Given the description of an element on the screen output the (x, y) to click on. 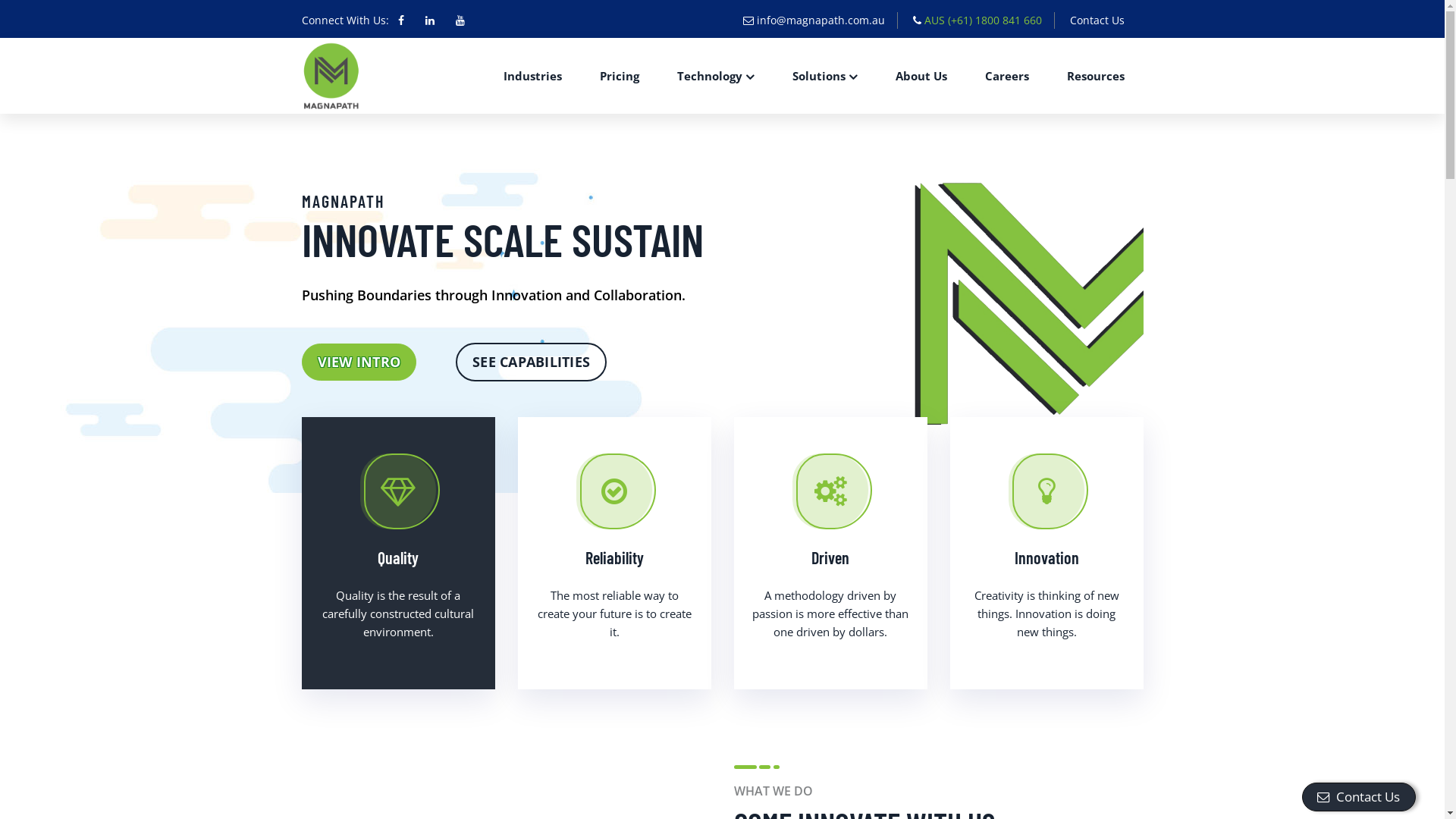
info@magnapath.com.au Element type: text (814, 20)
Technology Element type: text (715, 75)
Solutions Element type: text (824, 75)
About Us Element type: text (921, 75)
SEE CAPABILITIES Element type: text (530, 361)
Industries Element type: text (531, 75)
AUS (+61) 1800 841 660 Element type: text (977, 20)
VIEW INTRO Element type: text (359, 361)
Contact Us Element type: text (1099, 20)
Resources Element type: text (1095, 75)
Careers Element type: text (1007, 75)
Pricing Element type: text (619, 75)
